Given the description of an element on the screen output the (x, y) to click on. 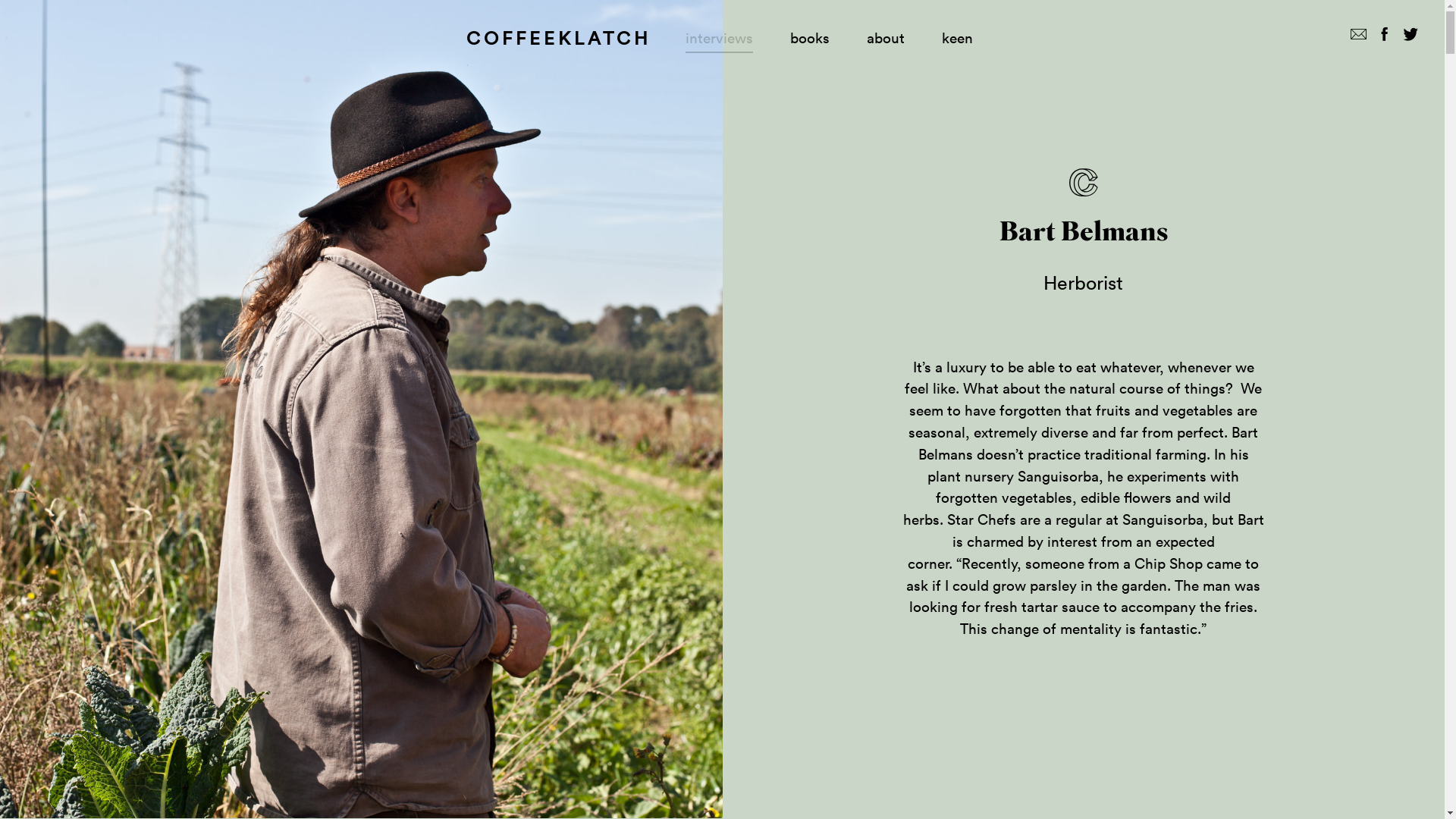
keen Element type: text (956, 37)
COFFEEKLATCH Element type: text (558, 37)
books Element type: text (809, 37)
about Element type: text (885, 37)
interviews Element type: text (719, 37)
